Given the description of an element on the screen output the (x, y) to click on. 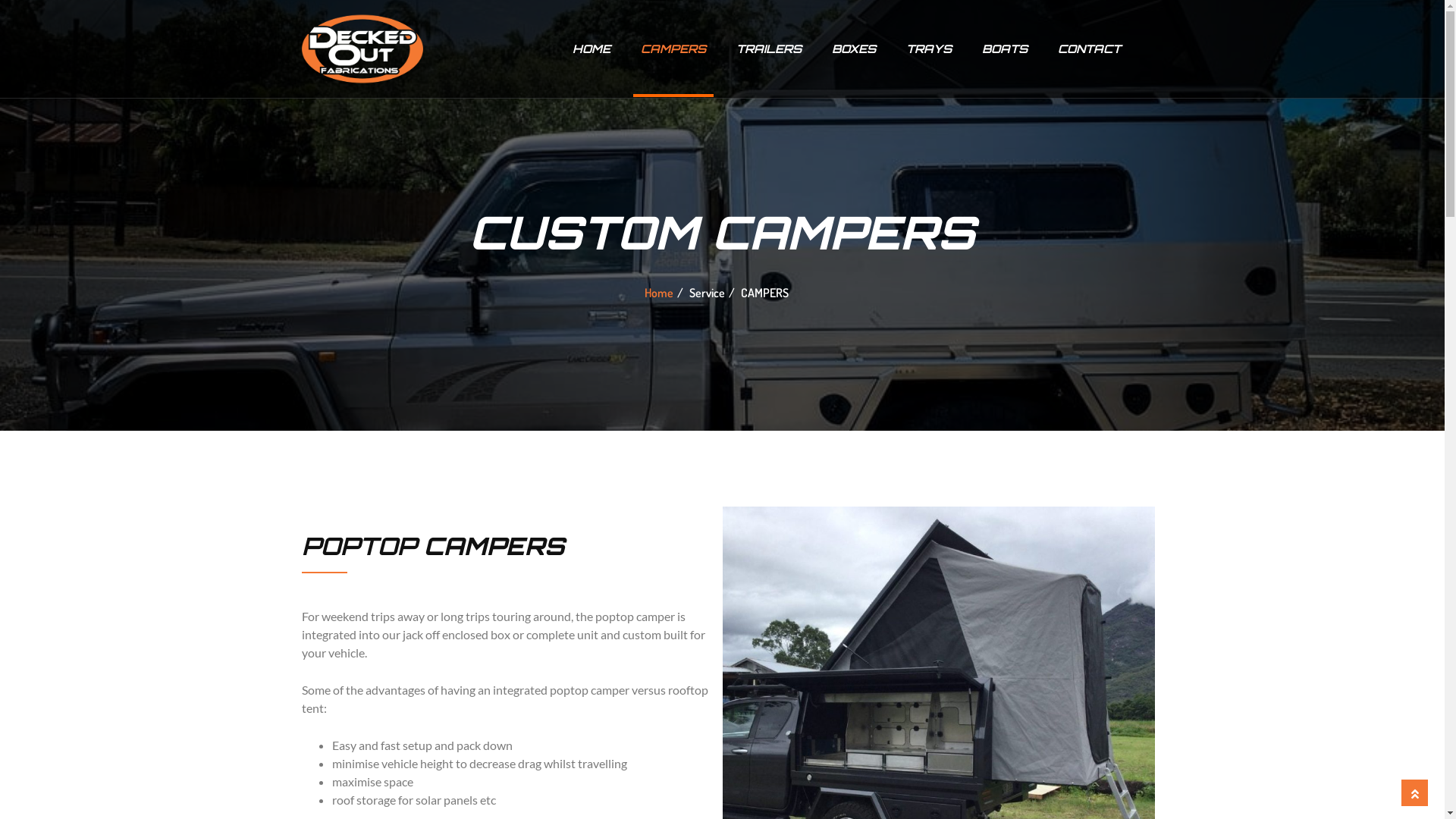
HOME Element type: text (590, 48)
TRAYS Element type: text (927, 48)
CAMPERS Element type: text (672, 48)
Home Element type: text (658, 292)
CONTACT Element type: text (1088, 48)
Back to Top Element type: hover (1414, 792)
TRAILERS Element type: text (768, 48)
BOXES Element type: text (852, 48)
BOATS Element type: text (1003, 48)
